Given the description of an element on the screen output the (x, y) to click on. 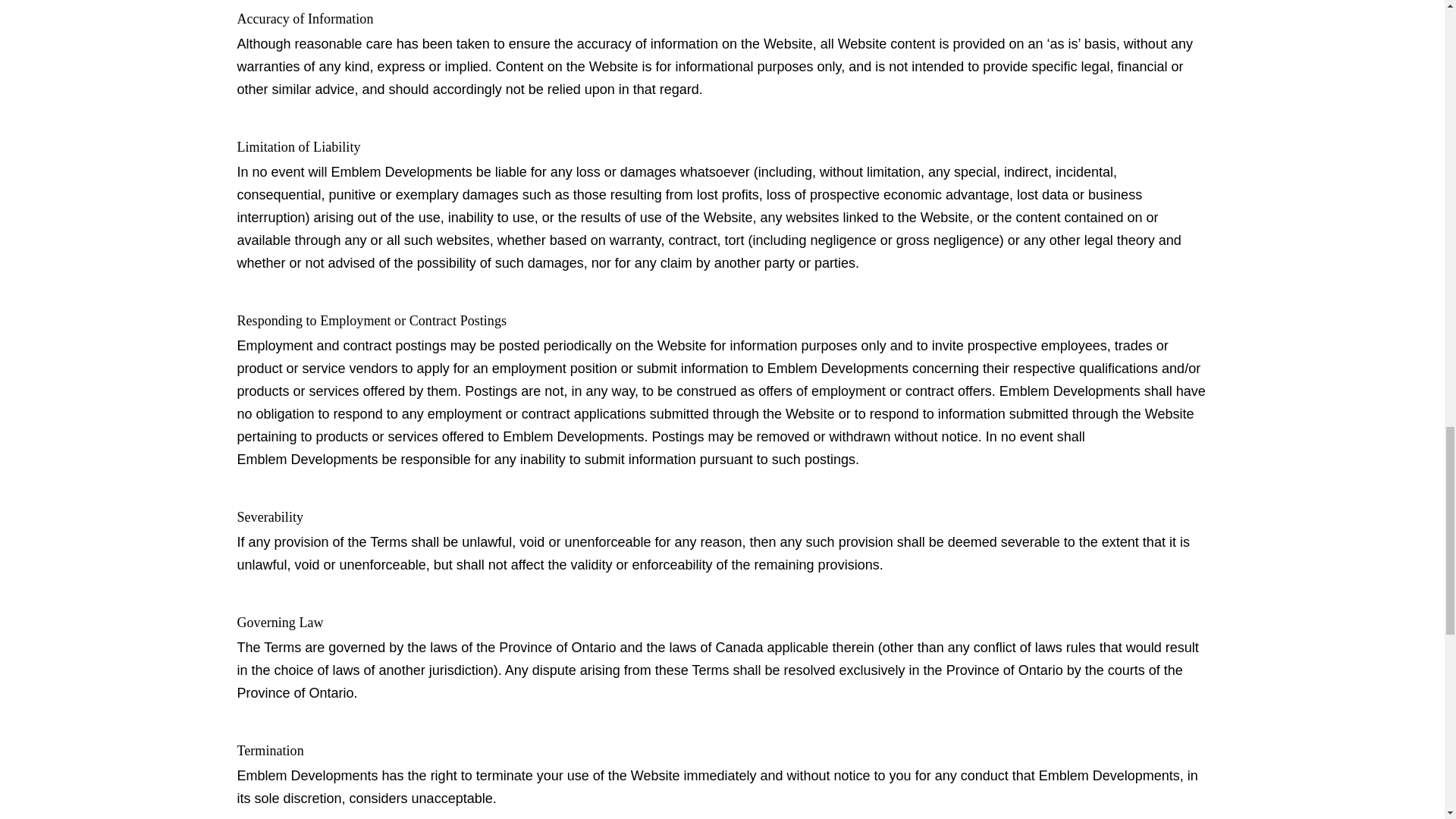
Emblem Developments (306, 775)
Emblem Developments (401, 171)
Emblem Developments (572, 436)
Emblem Developments (306, 458)
Emblem Developments (1109, 775)
Emblem Developments (1069, 391)
Emblem Developments (837, 368)
